Given the description of an element on the screen output the (x, y) to click on. 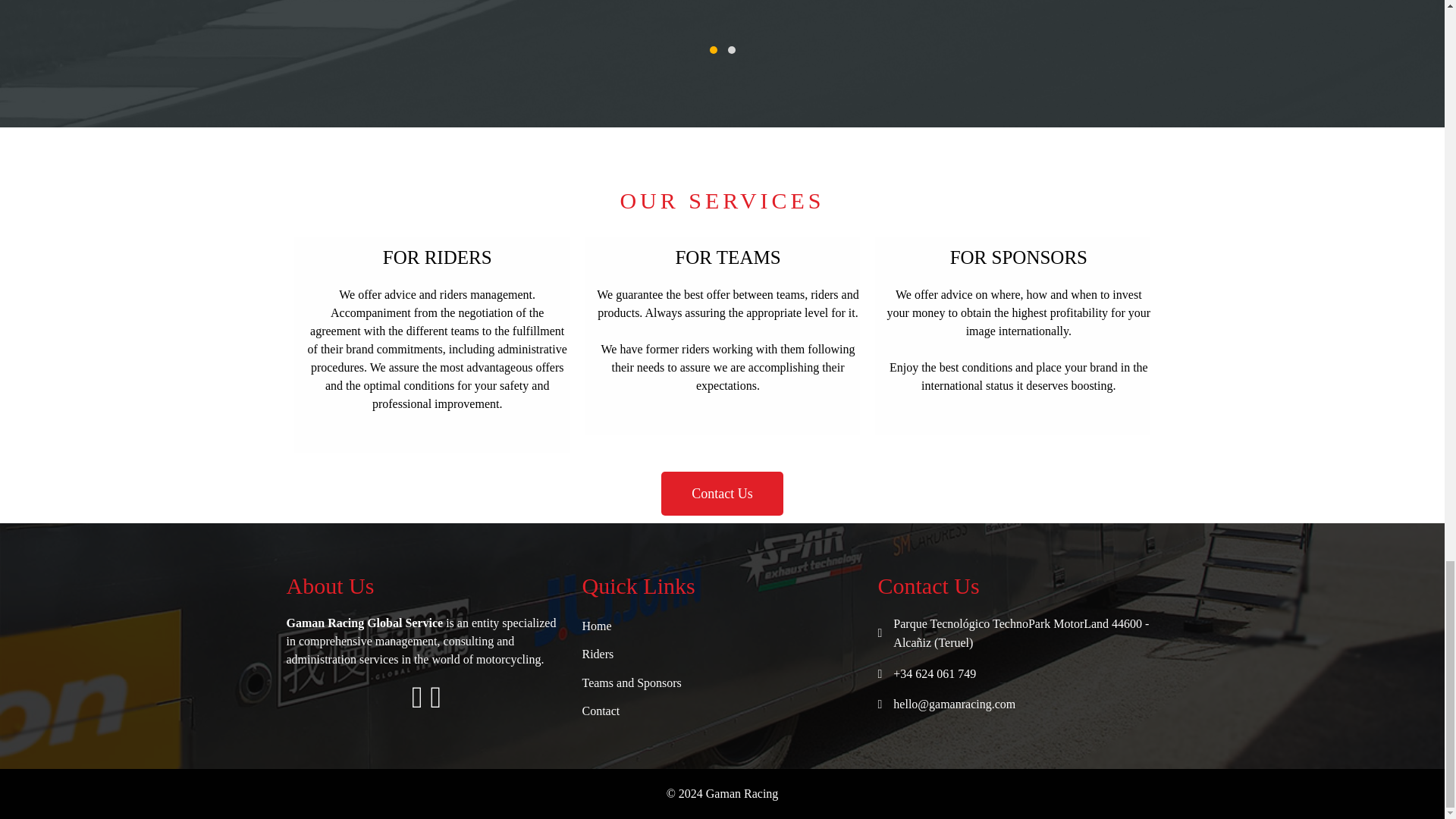
Contact (722, 711)
Home (722, 626)
Riders (722, 654)
Teams and Sponsors (722, 682)
Contact Us (722, 493)
